Given the description of an element on the screen output the (x, y) to click on. 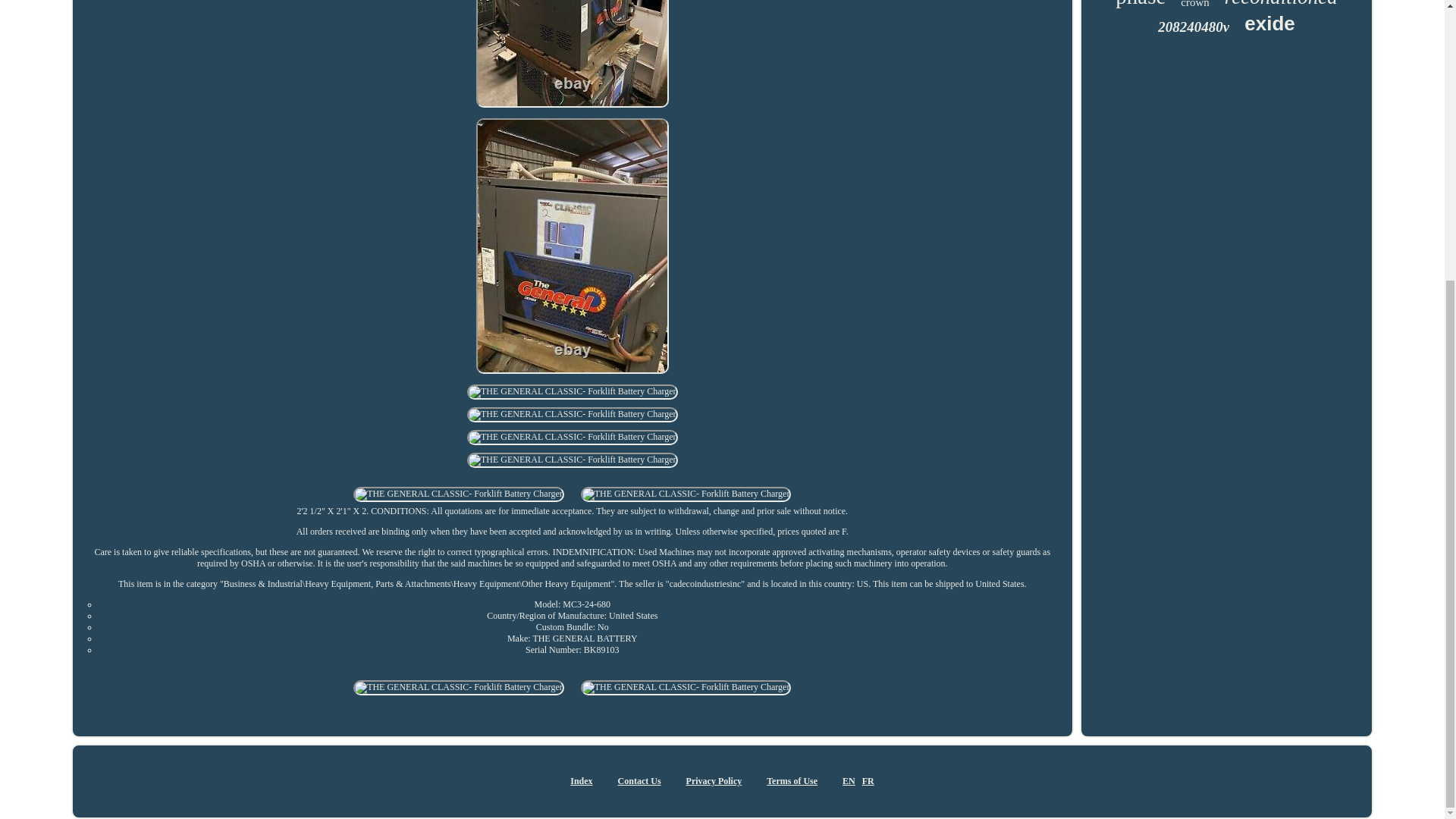
THE GENERAL CLASSIC- Forklift Battery Charger (458, 494)
THE GENERAL CLASSIC- Forklift Battery Charger (572, 53)
THE GENERAL CLASSIC- Forklift Battery Charger (686, 687)
THE GENERAL CLASSIC- Forklift Battery Charger (572, 414)
THE GENERAL CLASSIC- Forklift Battery Charger (572, 459)
THE GENERAL CLASSIC- Forklift Battery Charger (572, 391)
THE GENERAL CLASSIC- Forklift Battery Charger (686, 494)
THE GENERAL CLASSIC- Forklift Battery Charger (458, 687)
THE GENERAL CLASSIC- Forklift Battery Charger (572, 437)
